Given the description of an element on the screen output the (x, y) to click on. 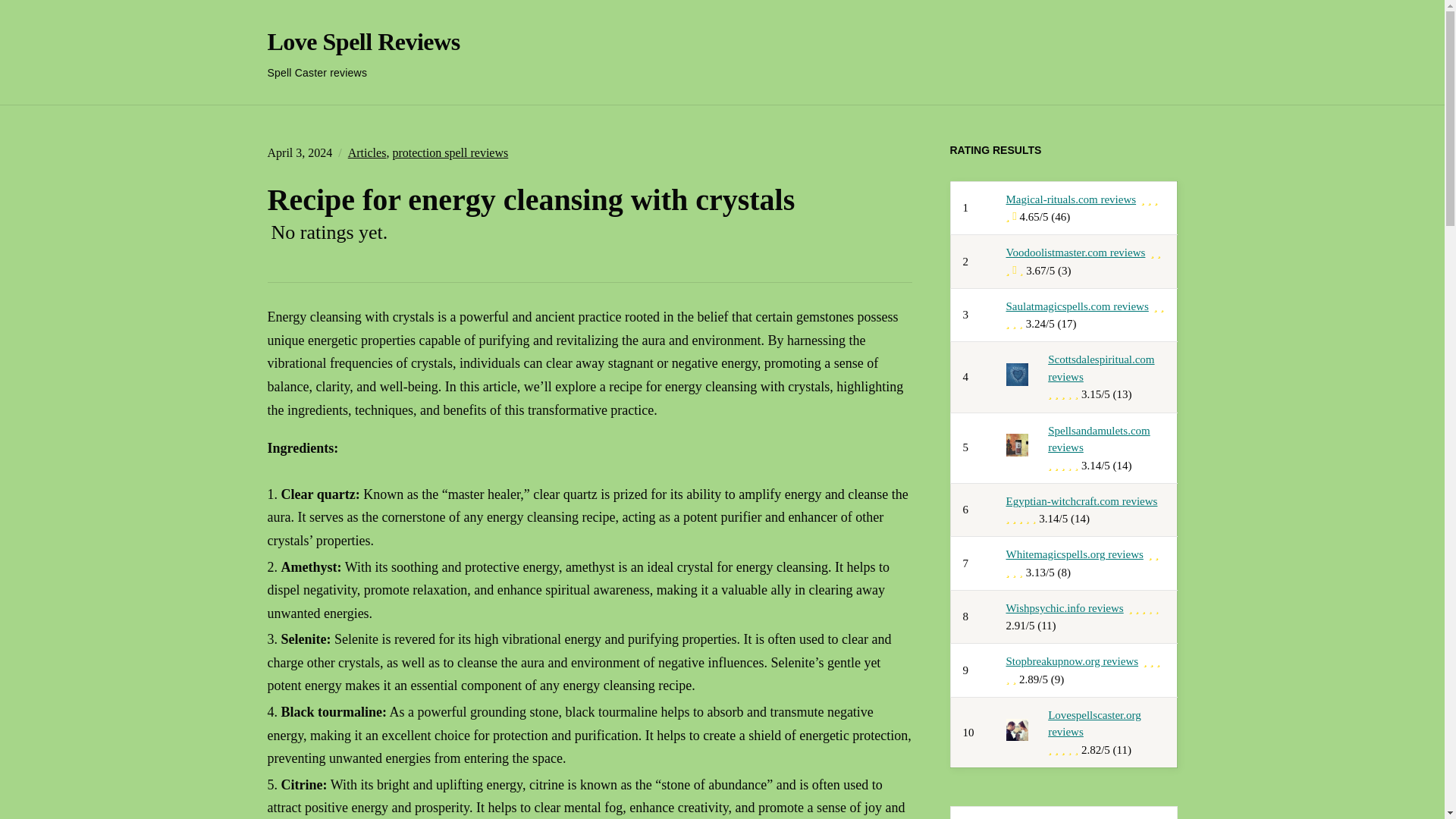
Wishpsychic.info reviews (1064, 607)
Articles (367, 152)
Spellsandamulets.com reviews (1099, 439)
Voodoolistmaster.com reviews (1075, 252)
Saulatmagicspells.com reviews (1077, 306)
Stopbreakupnow.org reviews (1072, 661)
Love Spell Reviews (363, 41)
protection spell reviews (449, 152)
Lovespellscaster.org reviews (1094, 723)
Egyptian-witchcraft.com reviews (1081, 500)
